Given the description of an element on the screen output the (x, y) to click on. 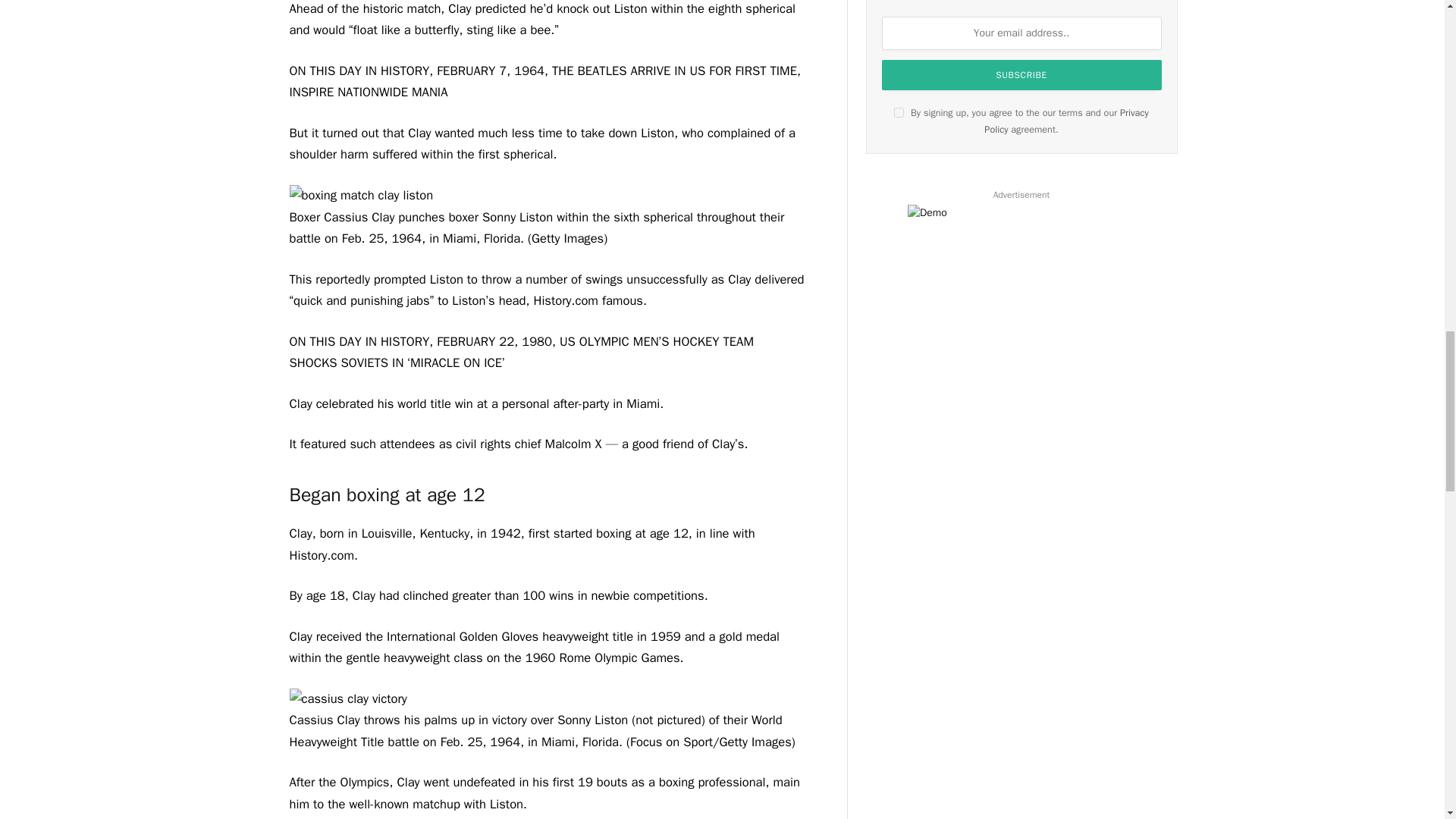
on (898, 112)
Subscribe (1021, 74)
